Given the description of an element on the screen output the (x, y) to click on. 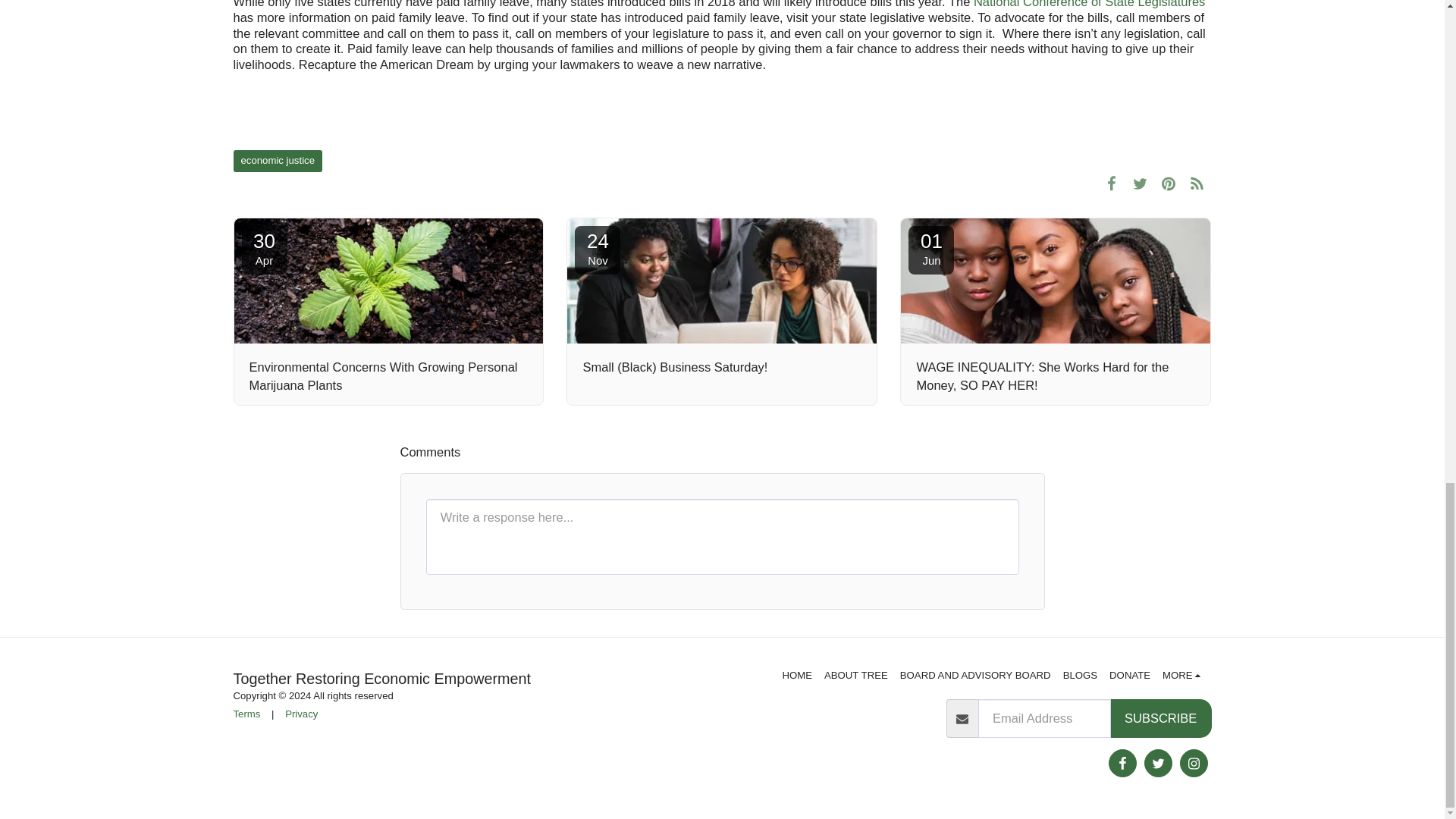
RSS (1196, 183)
economic justice (276, 160)
Share on Facebook (1111, 183)
Pin it (1168, 183)
National Conference of State Legislatures (1089, 4)
Tweet (1139, 183)
